Given the description of an element on the screen output the (x, y) to click on. 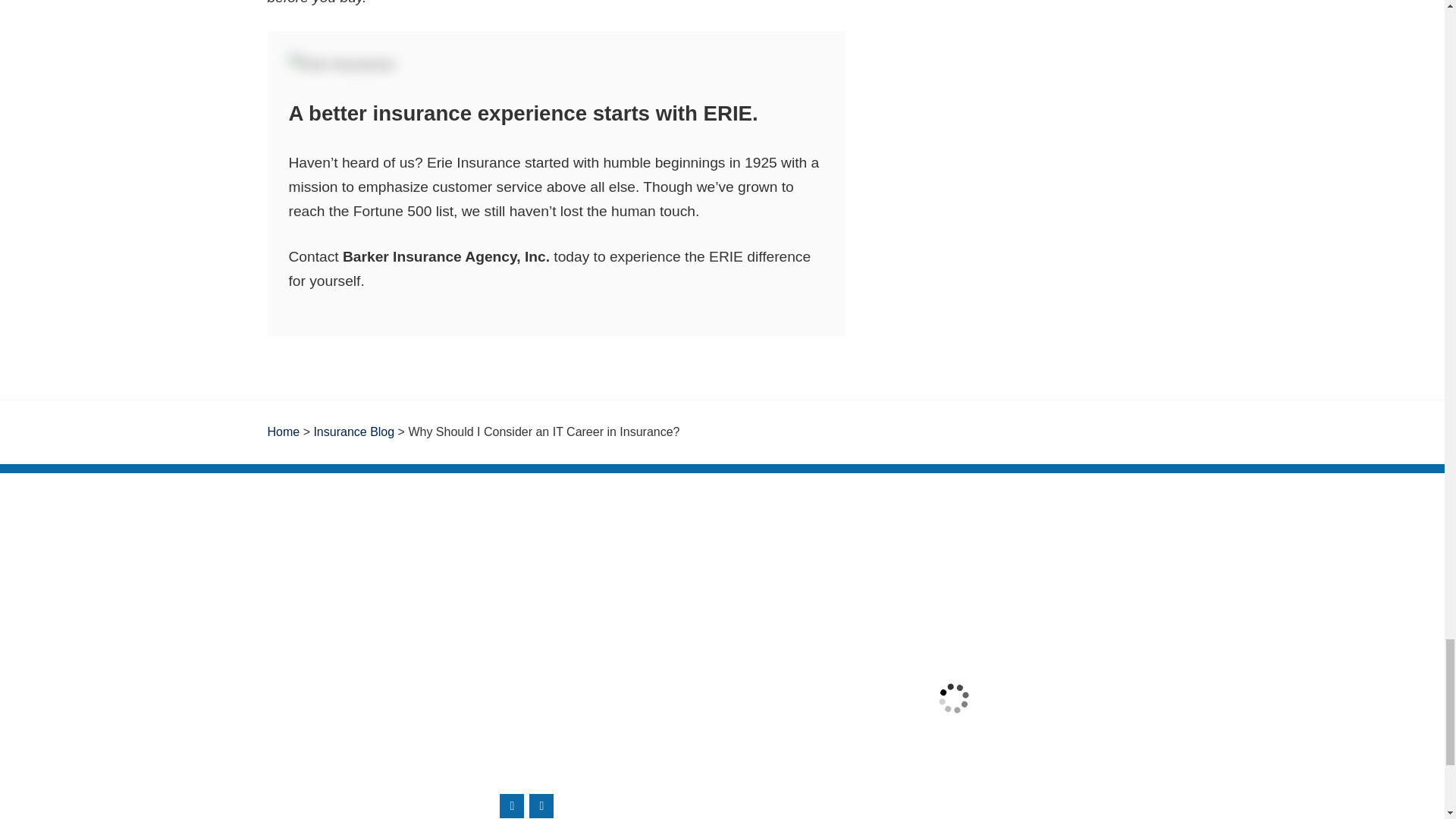
Google Maps (511, 805)
Yelp (541, 805)
